Given the description of an element on the screen output the (x, y) to click on. 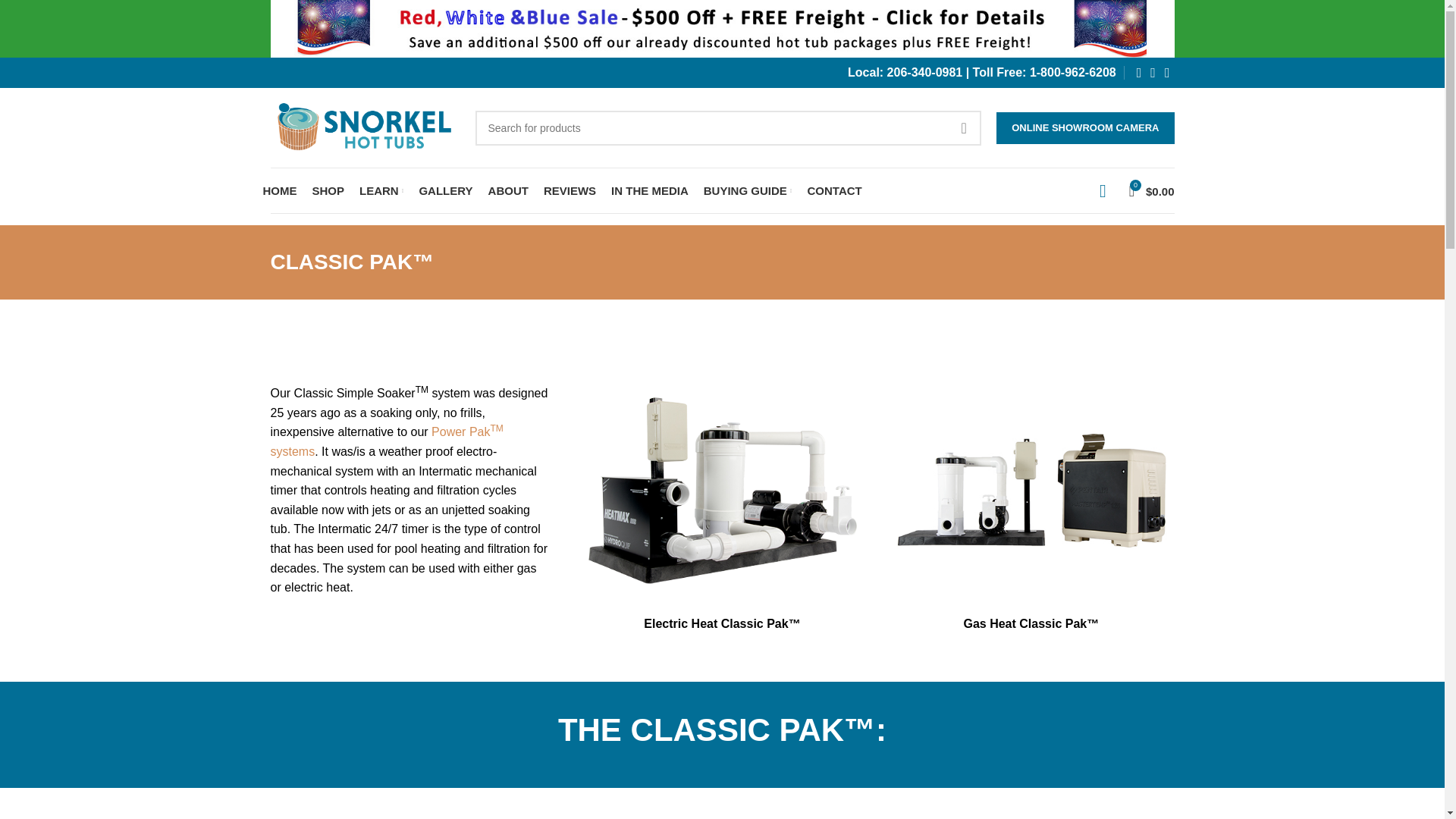
SEARCH (963, 127)
LEARN (381, 191)
Shopping cart (1151, 191)
ABOUT (507, 191)
ONLINE SHOWROOM CAMERA (1084, 128)
SHOP (329, 191)
GALLERY (445, 191)
SSOLP (1030, 490)
HOME (279, 191)
206-340-0981 (924, 72)
Search for products (727, 127)
BUYING GUIDE (747, 191)
REVIEWS (569, 191)
SimpleSoakerB (721, 490)
1-800-962-6208 (1072, 72)
